Given the description of an element on the screen output the (x, y) to click on. 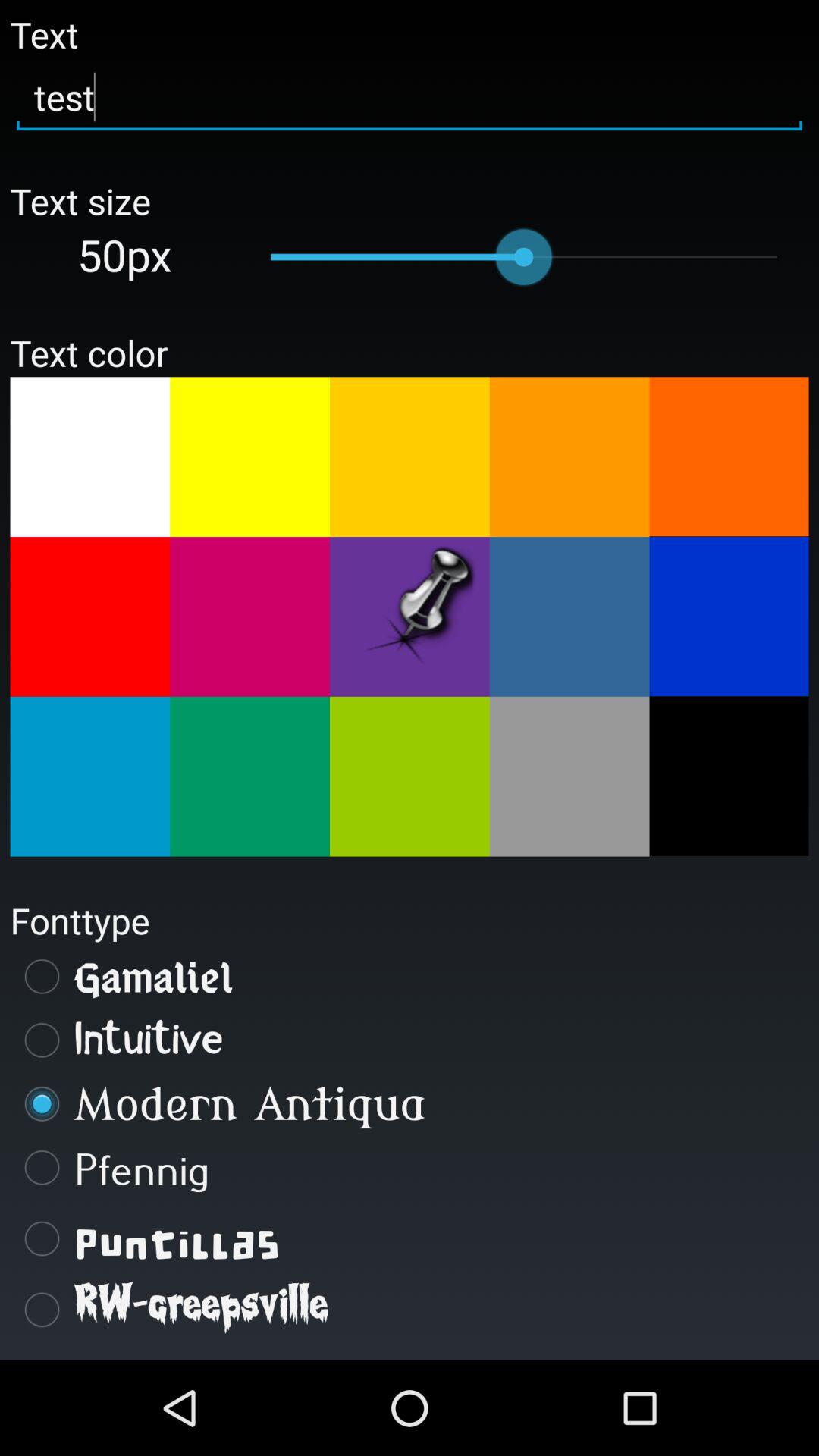
orange colour (90, 616)
